Given the description of an element on the screen output the (x, y) to click on. 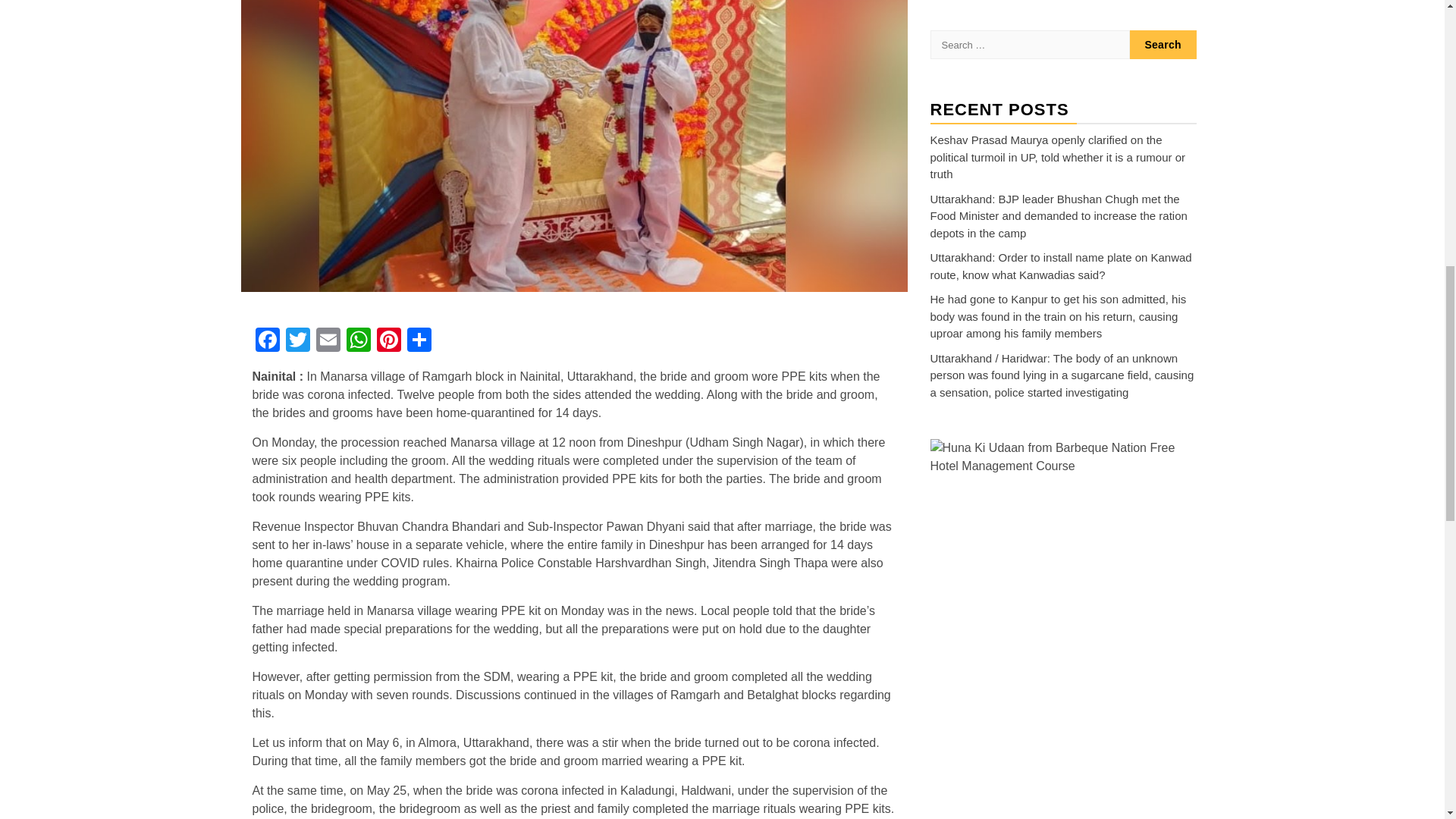
Email (327, 341)
Twitter (297, 341)
Facebook (266, 341)
Pinterest (387, 341)
WhatsApp (357, 341)
